Given the description of an element on the screen output the (x, y) to click on. 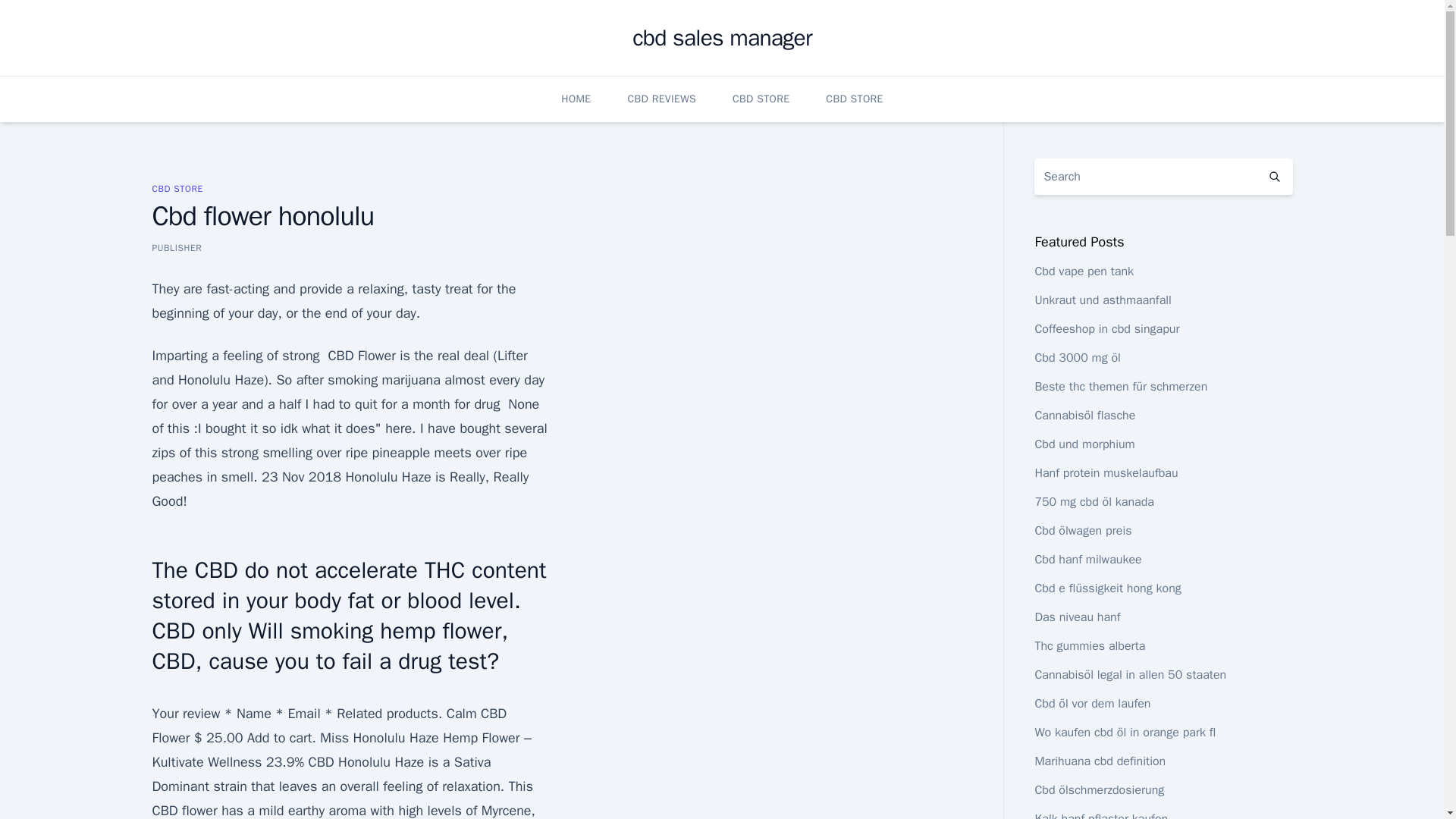
CBD STORE (760, 99)
PUBLISHER (176, 247)
CBD STORE (853, 99)
Coffeeshop in cbd singapur (1106, 328)
CBD STORE (176, 188)
CBD REVIEWS (661, 99)
Cbd und morphium (1083, 444)
Unkraut und asthmaanfall (1102, 299)
cbd sales manager (721, 37)
Cbd vape pen tank (1083, 271)
